Given the description of an element on the screen output the (x, y) to click on. 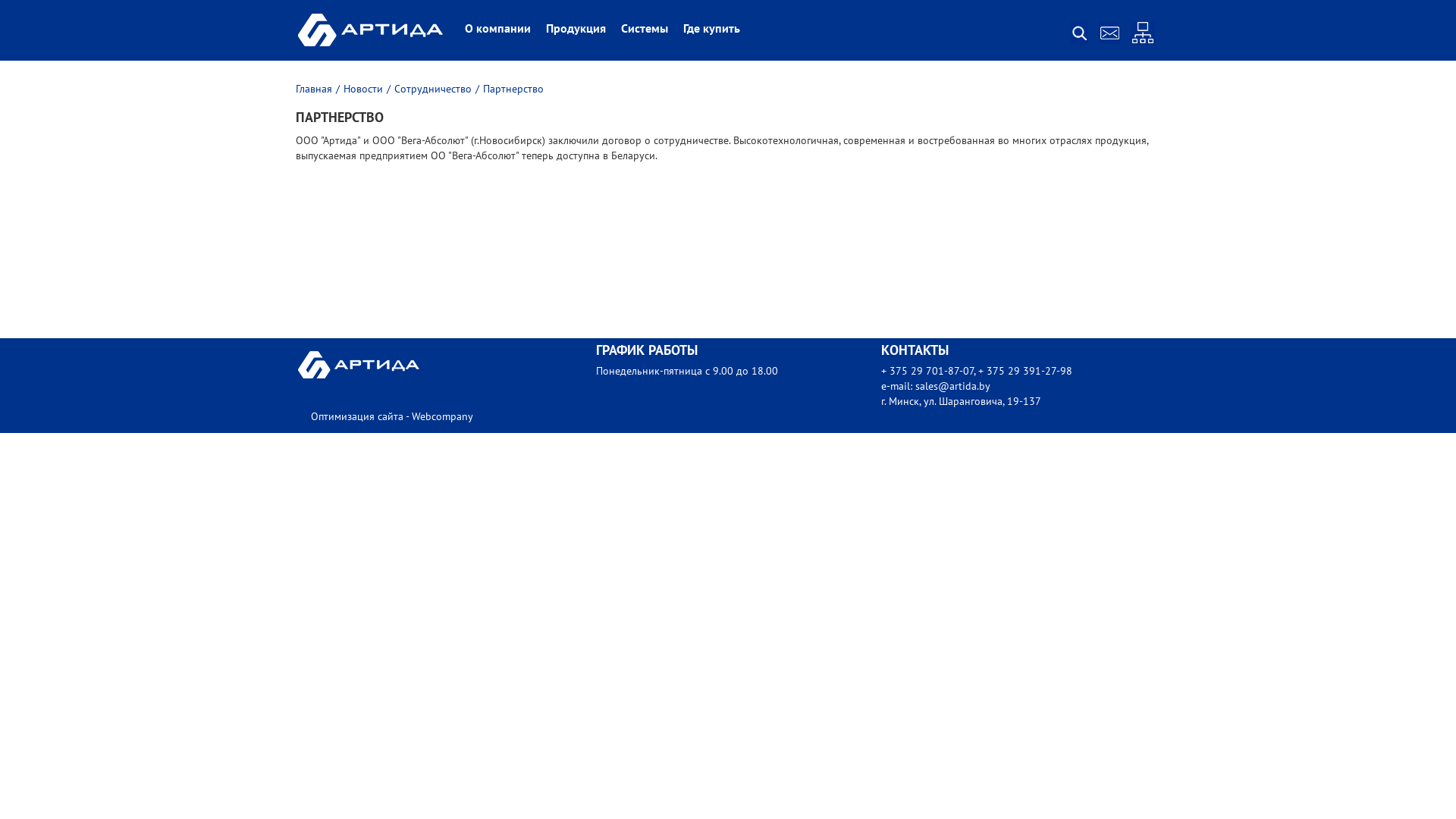
+ 375 29 391-27-98 Element type: text (1025, 370)
sales@artida.by Element type: text (952, 385)
+ 375 29 701-87-07 Element type: text (927, 370)
